Given the description of an element on the screen output the (x, y) to click on. 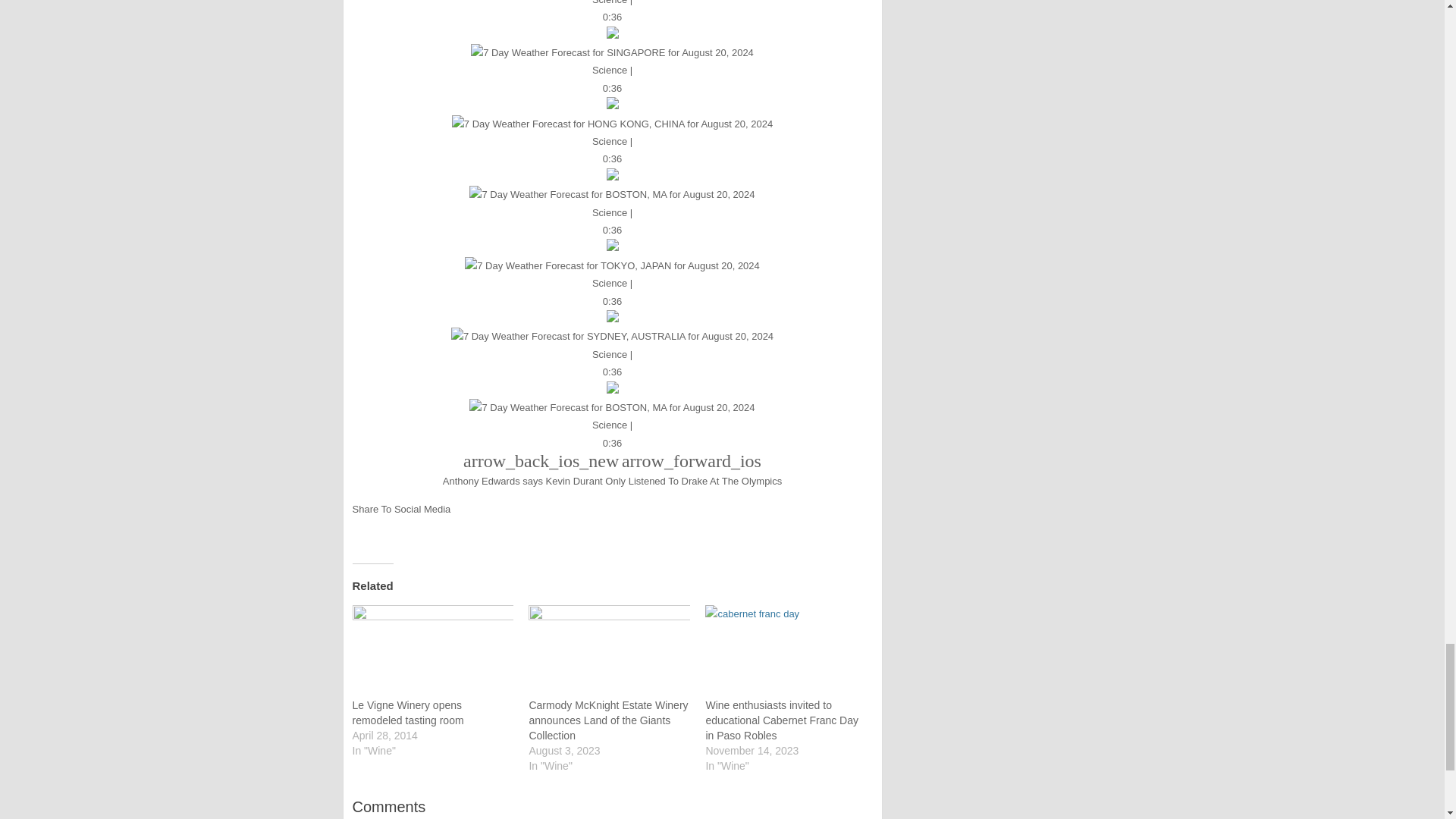
Facebook Share (363, 526)
Tweet (385, 528)
Pin Share (406, 526)
